Given the description of an element on the screen output the (x, y) to click on. 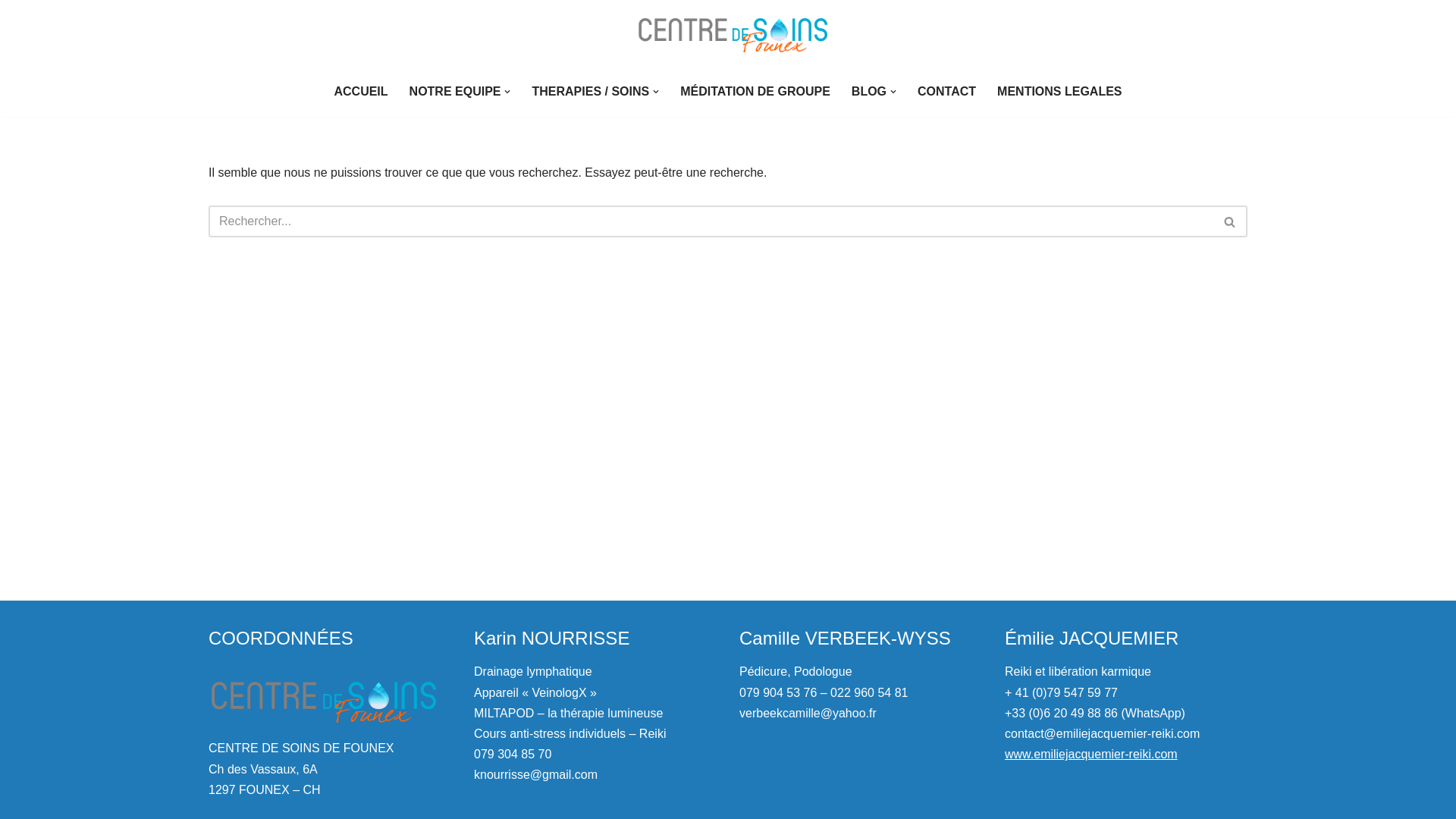
CONTACT Element type: text (946, 91)
BLOG Element type: text (868, 91)
THERAPIES / SOINS Element type: text (590, 91)
Aller au contenu Element type: text (11, 31)
www.emiliejacquemier-reiki.com Element type: text (1090, 753)
NOTRE EQUIPE Element type: text (455, 91)
MENTIONS LEGALES Element type: text (1059, 91)
ACCUEIL Element type: text (360, 91)
